Given the description of an element on the screen output the (x, y) to click on. 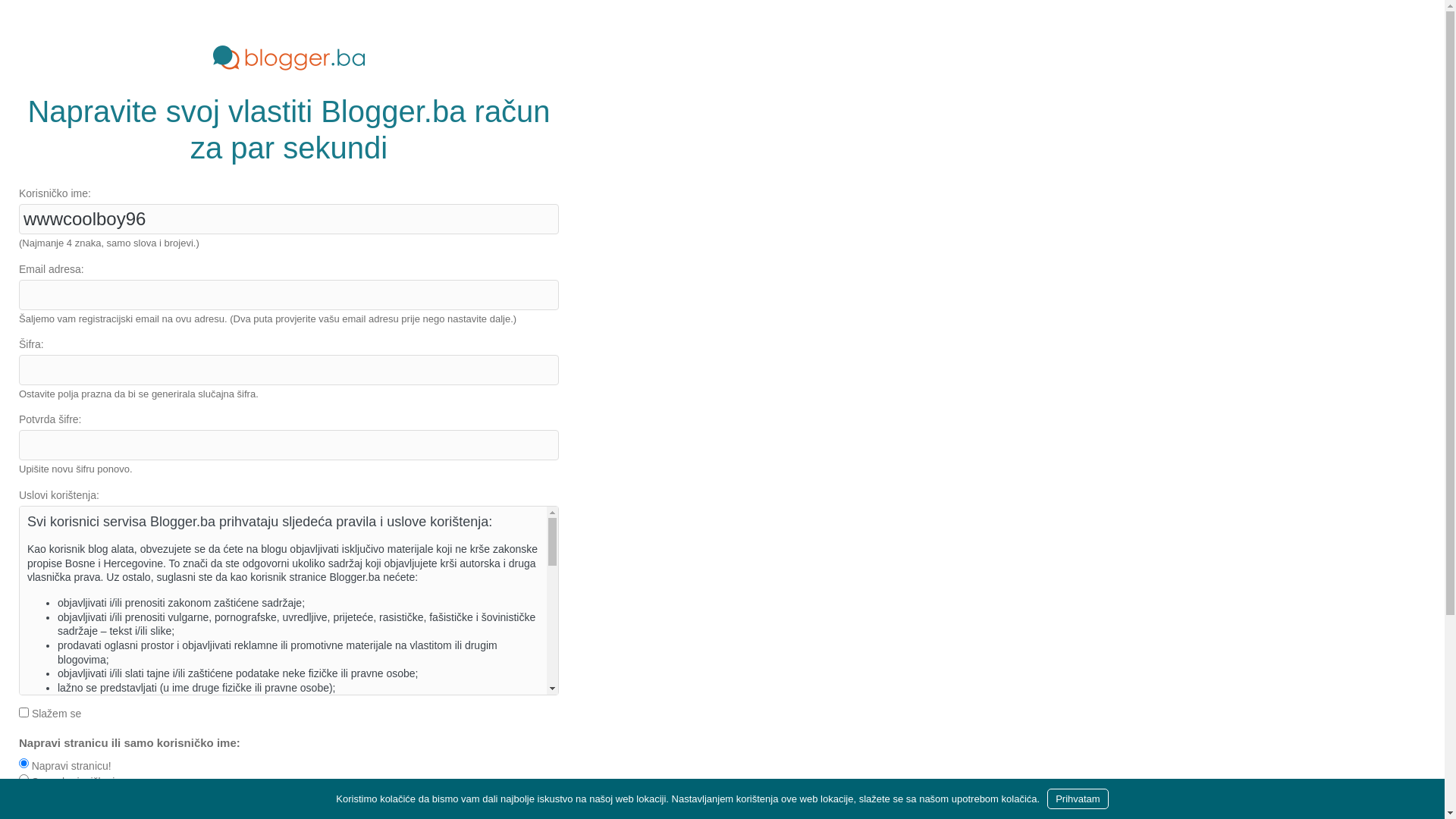
Prihvatam Element type: text (1077, 798)
